Given the description of an element on the screen output the (x, y) to click on. 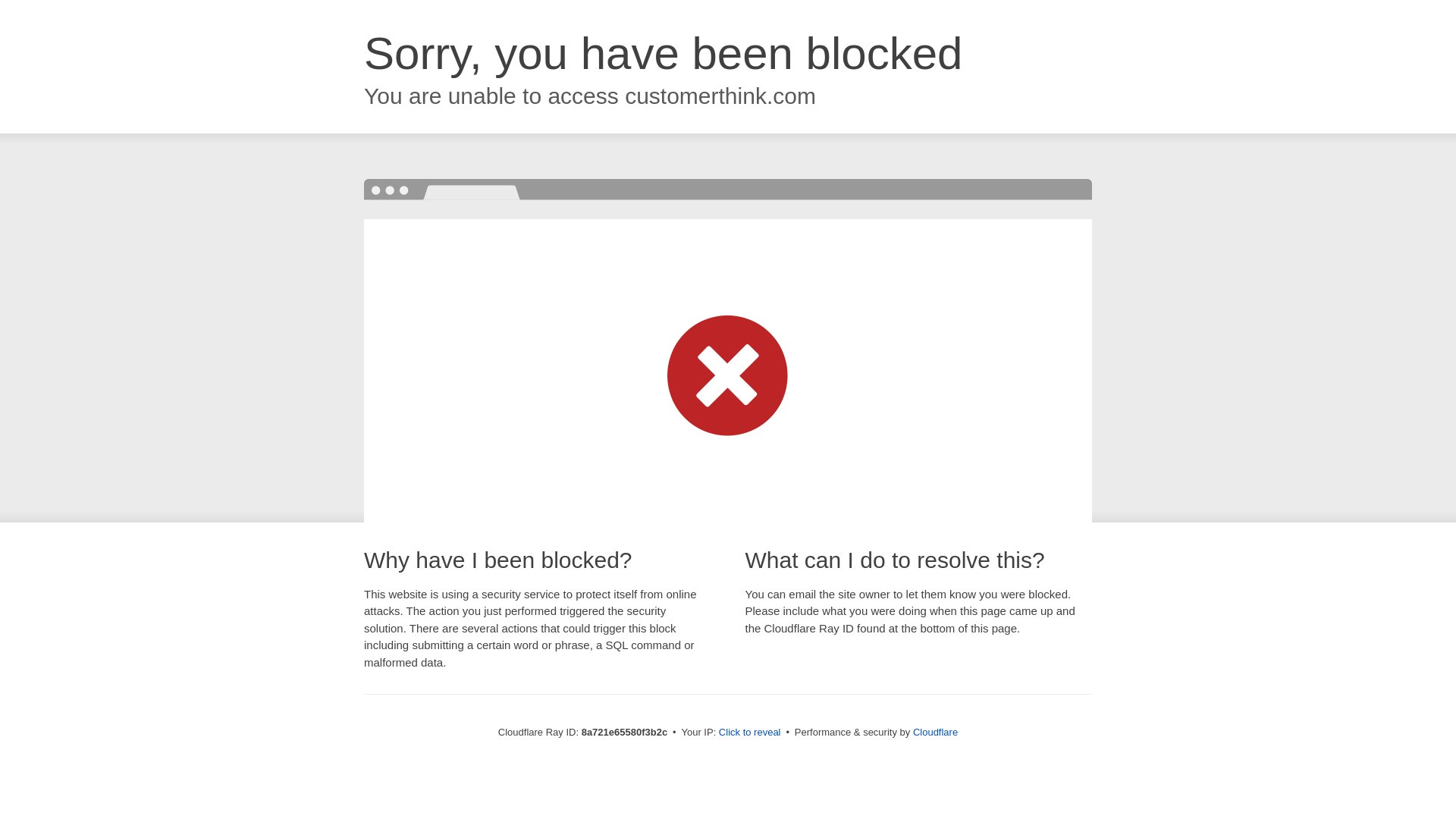
Cloudflare (935, 731)
Click to reveal (749, 732)
